Given the description of an element on the screen output the (x, y) to click on. 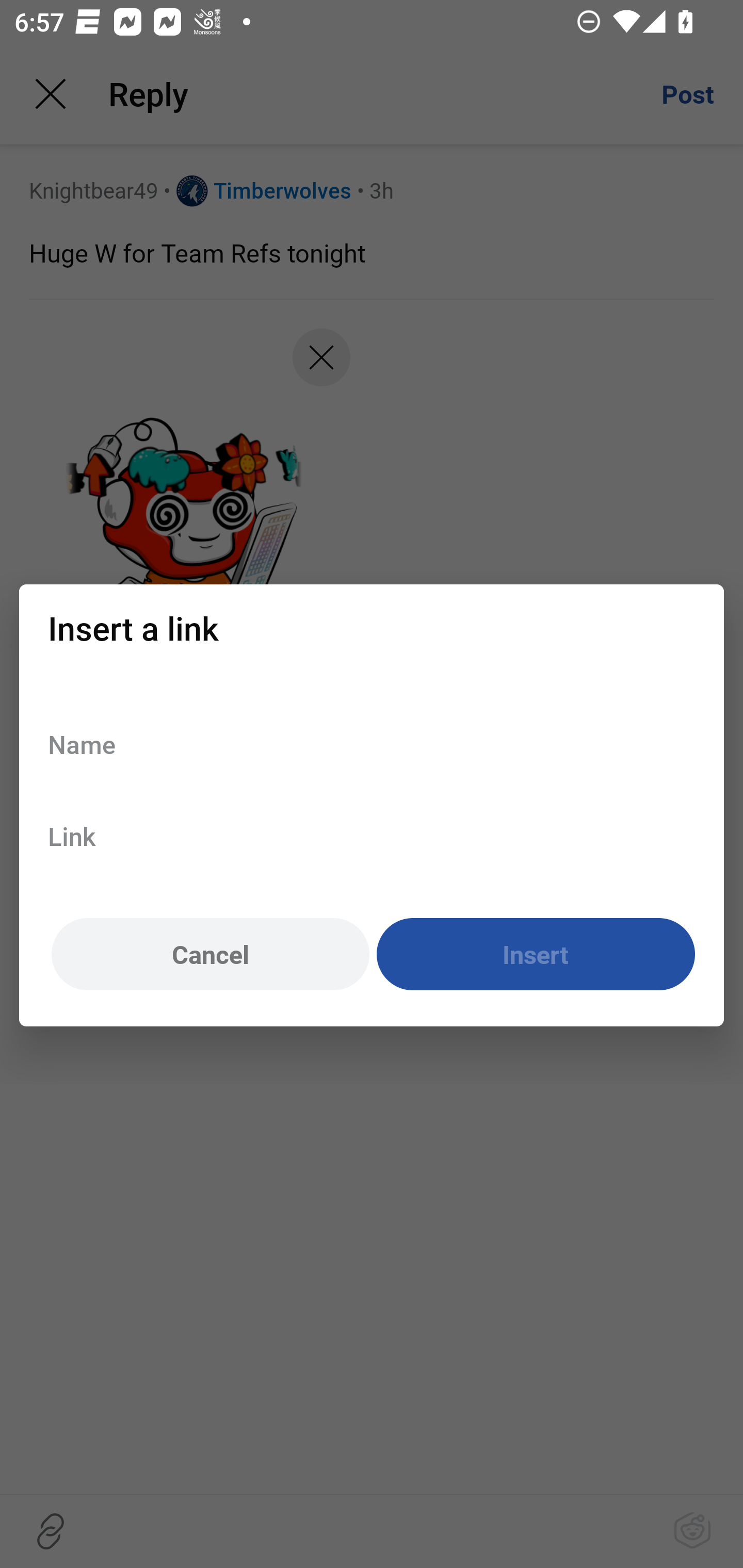
Name (371, 743)
Link (371, 835)
Cancel (210, 954)
Insert (535, 954)
